Given the description of an element on the screen output the (x, y) to click on. 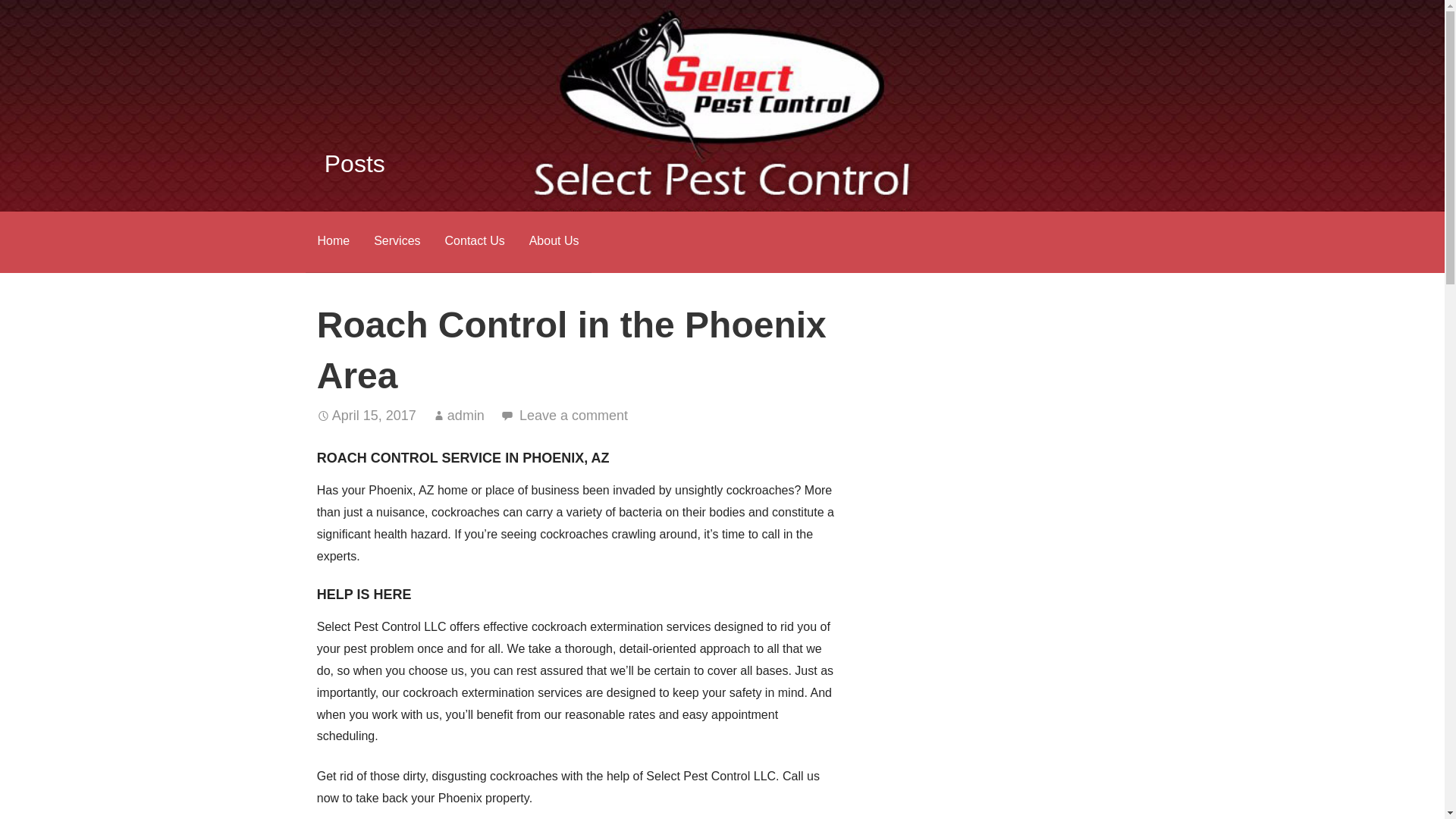
Leave a comment (573, 415)
Contact Us (474, 241)
admin (465, 415)
Home (332, 241)
Posts by admin (465, 415)
Services (396, 241)
About Us (553, 241)
